Given the description of an element on the screen output the (x, y) to click on. 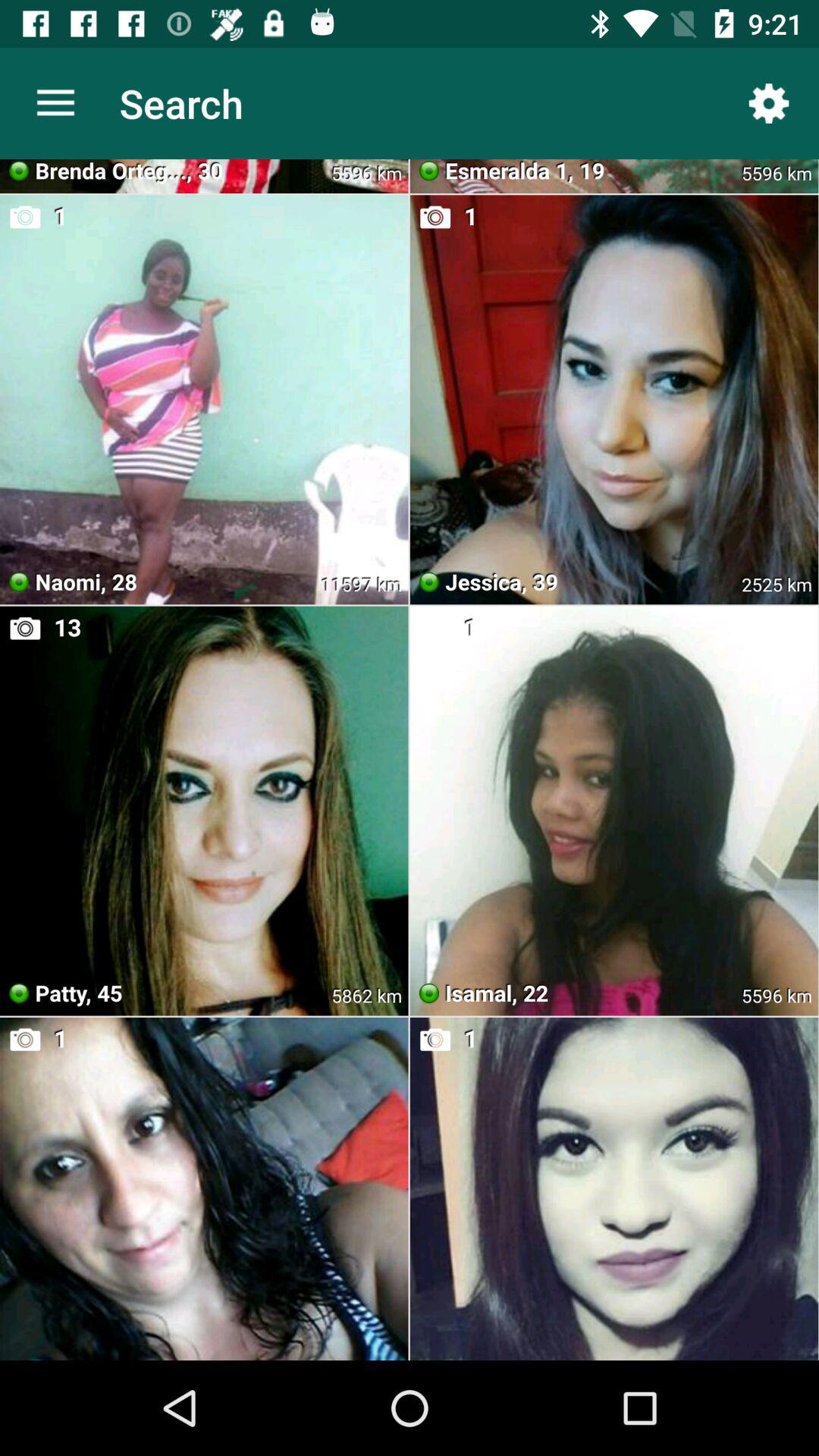
launch icon to the left of search item (55, 103)
